Given the description of an element on the screen output the (x, y) to click on. 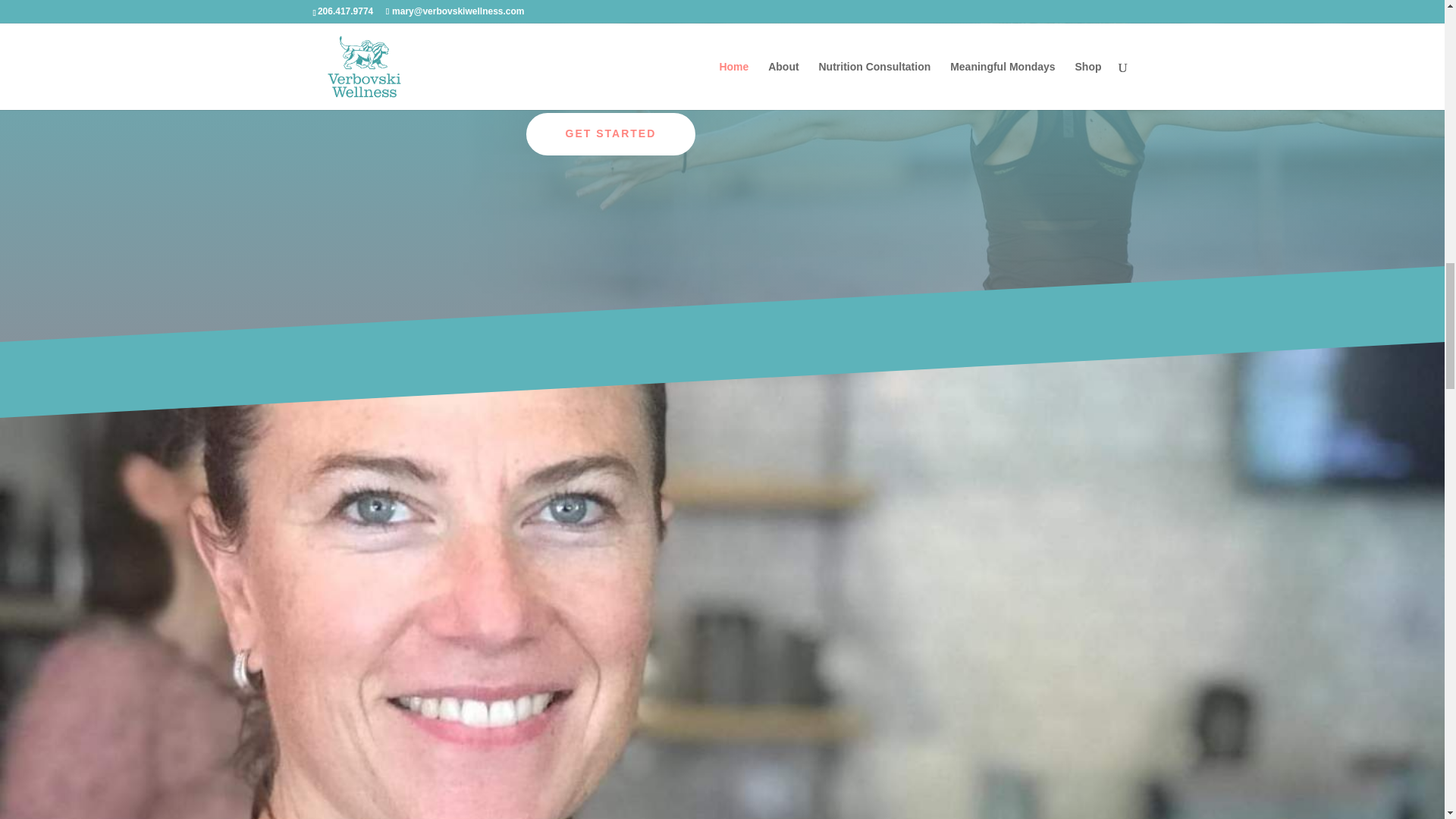
GET STARTED (610, 134)
